Given the description of an element on the screen output the (x, y) to click on. 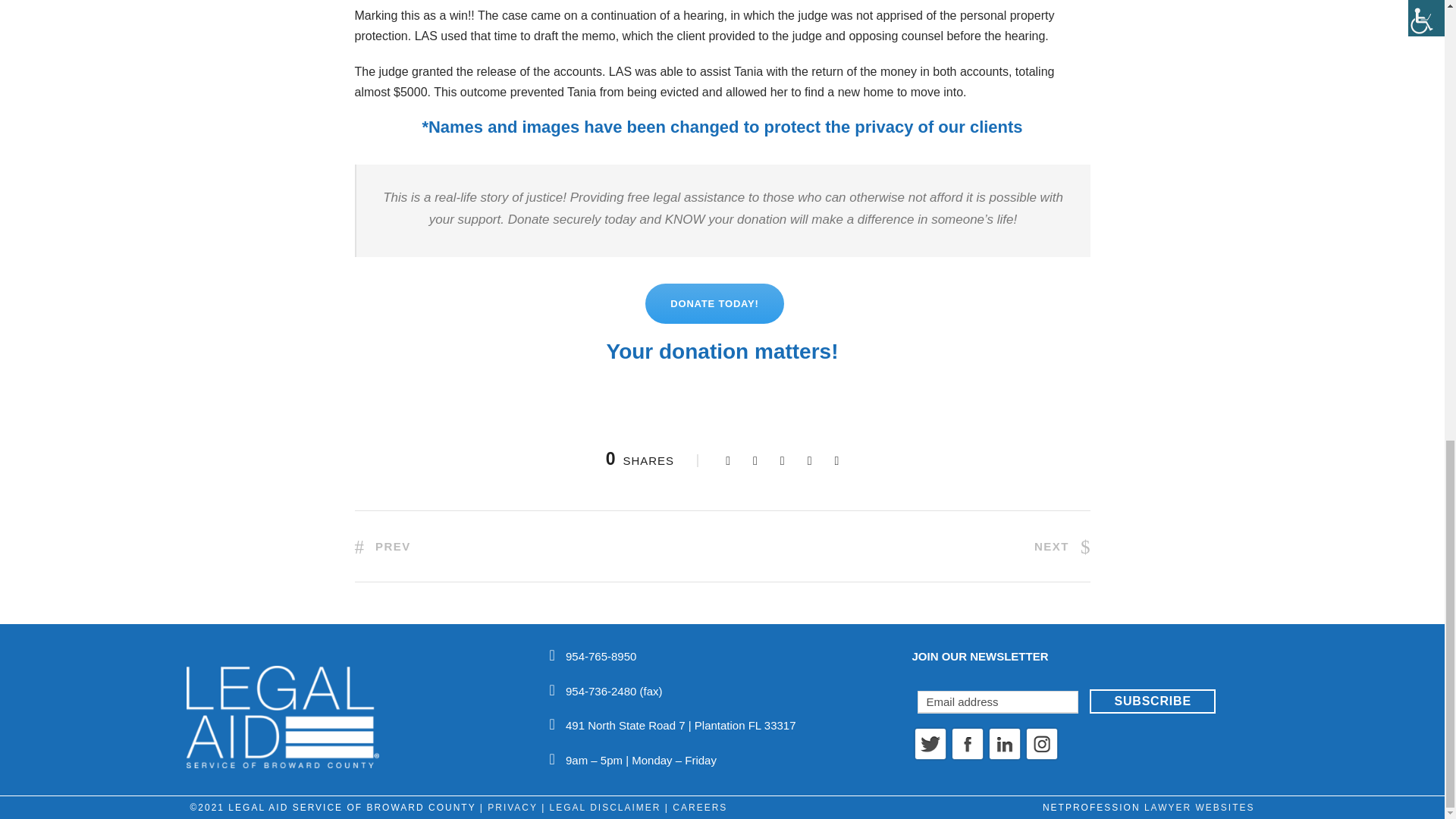
SUBSCRIBE (1151, 701)
